Given the description of an element on the screen output the (x, y) to click on. 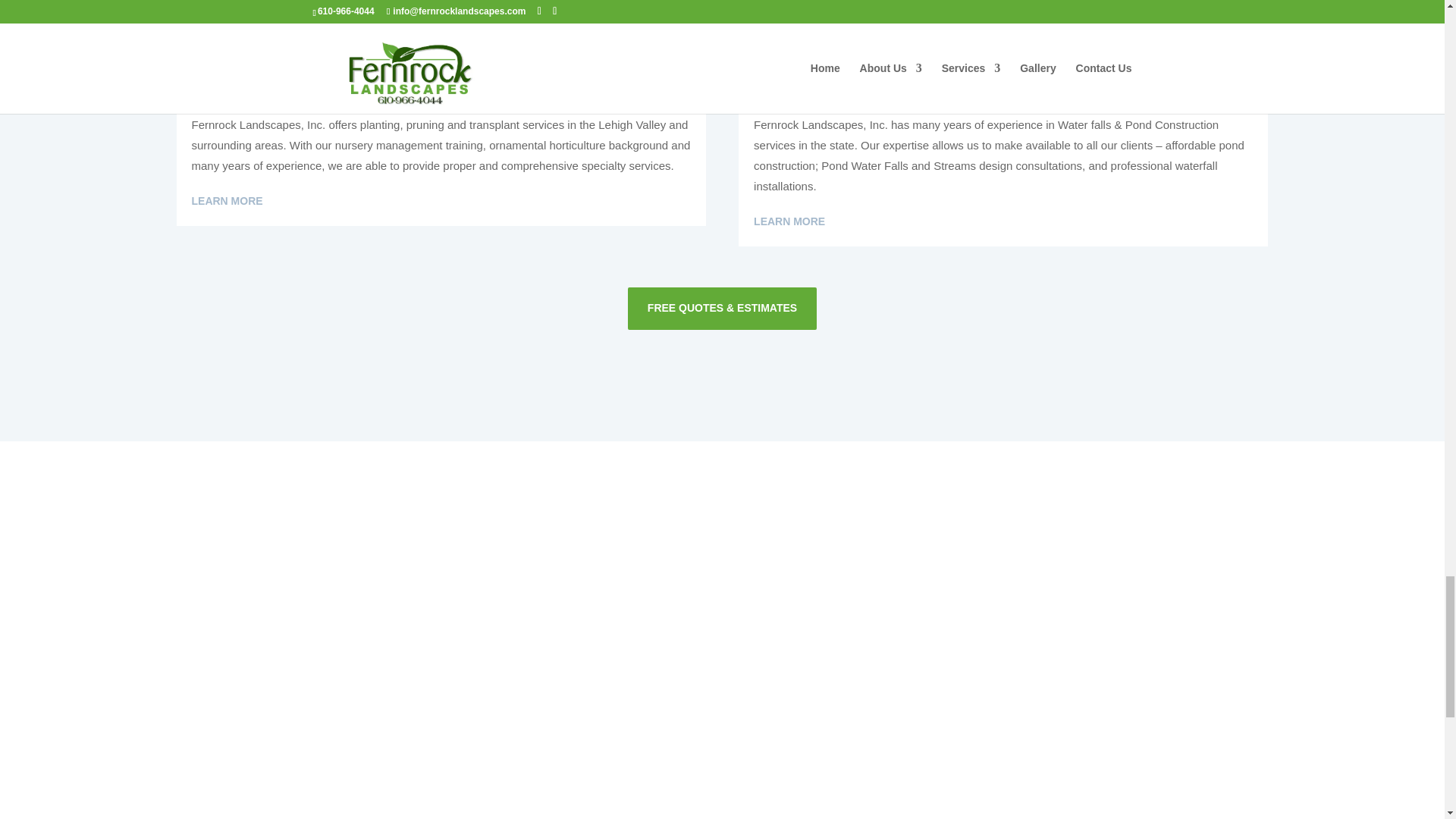
LEARN MORE (789, 221)
Waterfall Installation (1003, 29)
Planting Installation (440, 29)
LEARN MORE (226, 201)
